Given the description of an element on the screen output the (x, y) to click on. 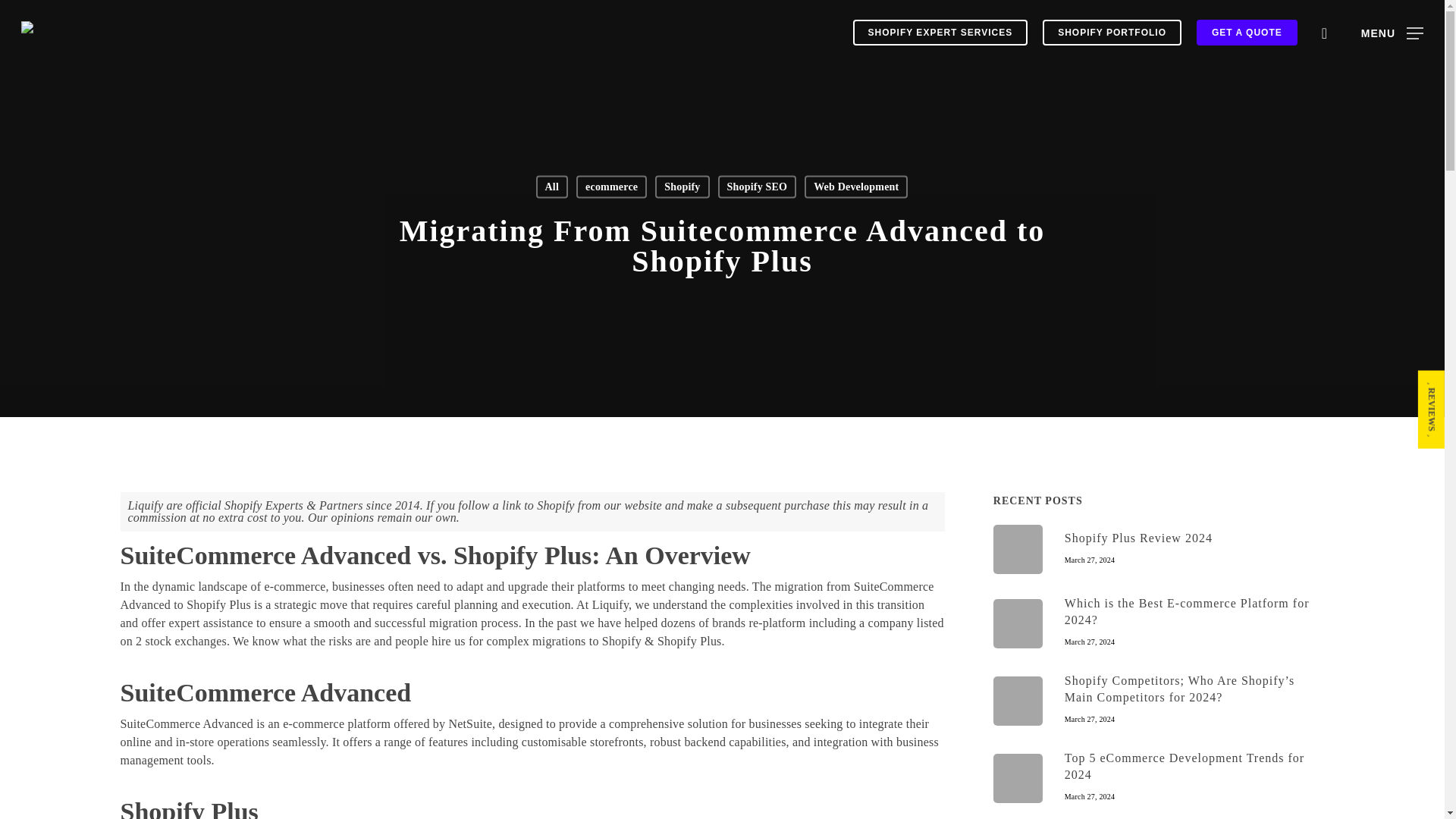
Shopify (682, 187)
Web Development (1158, 549)
ecommerce (856, 187)
SHOPIFY PORTFOLIO (611, 187)
GET A QUOTE (1111, 32)
All (1246, 32)
SHOPIFY EXPERT SERVICES (1158, 777)
